Given the description of an element on the screen output the (x, y) to click on. 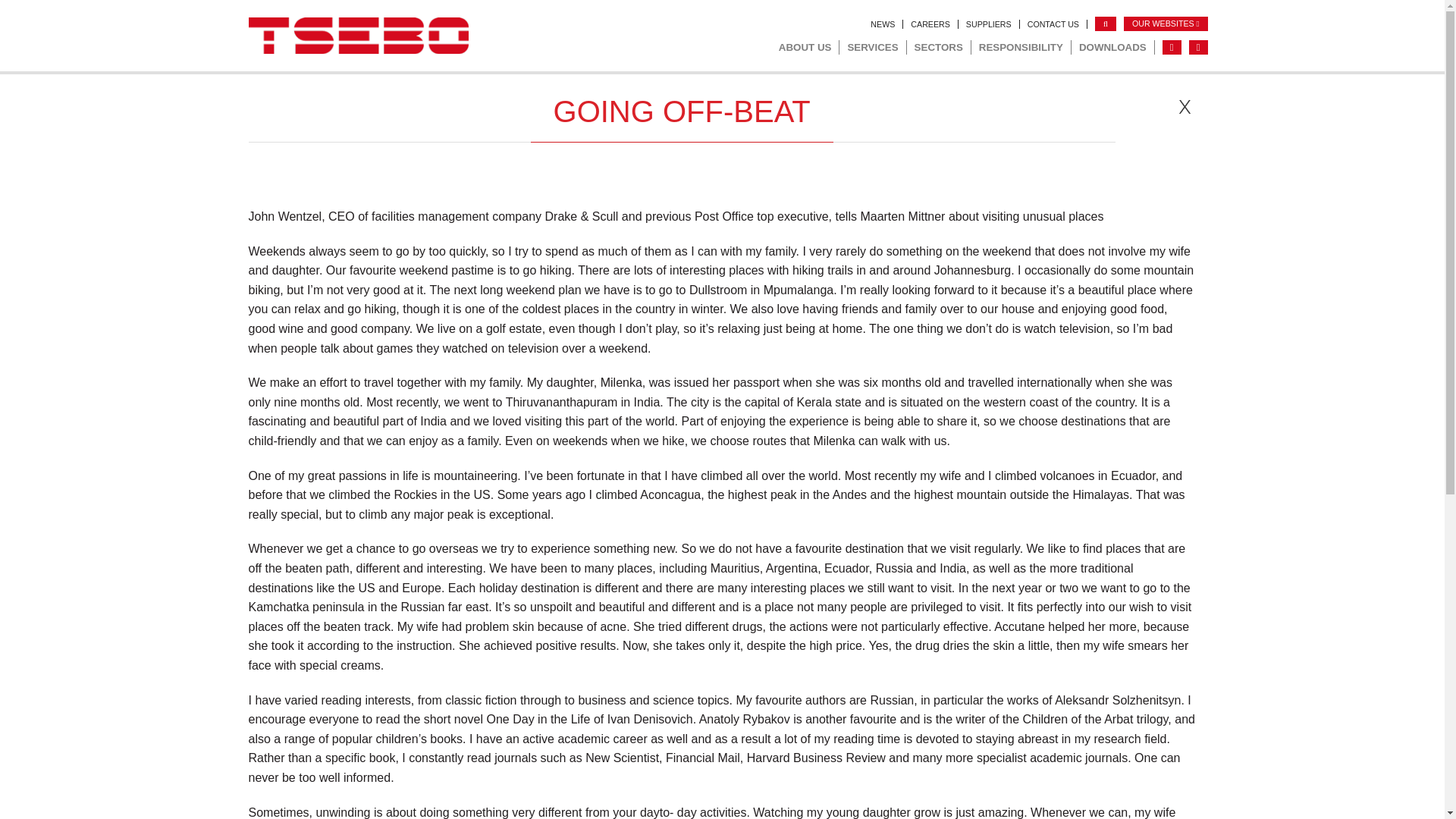
SUPPLIERS (988, 23)
SECTORS (939, 47)
SERVICES (872, 47)
NEWS (882, 23)
CONTACT US (1053, 23)
CAREERS (930, 23)
RESPONSIBILITY (1020, 47)
DOWNLOADS (1112, 47)
OUR WEBSITES (1166, 23)
ABOUT US (805, 47)
